Given the description of an element on the screen output the (x, y) to click on. 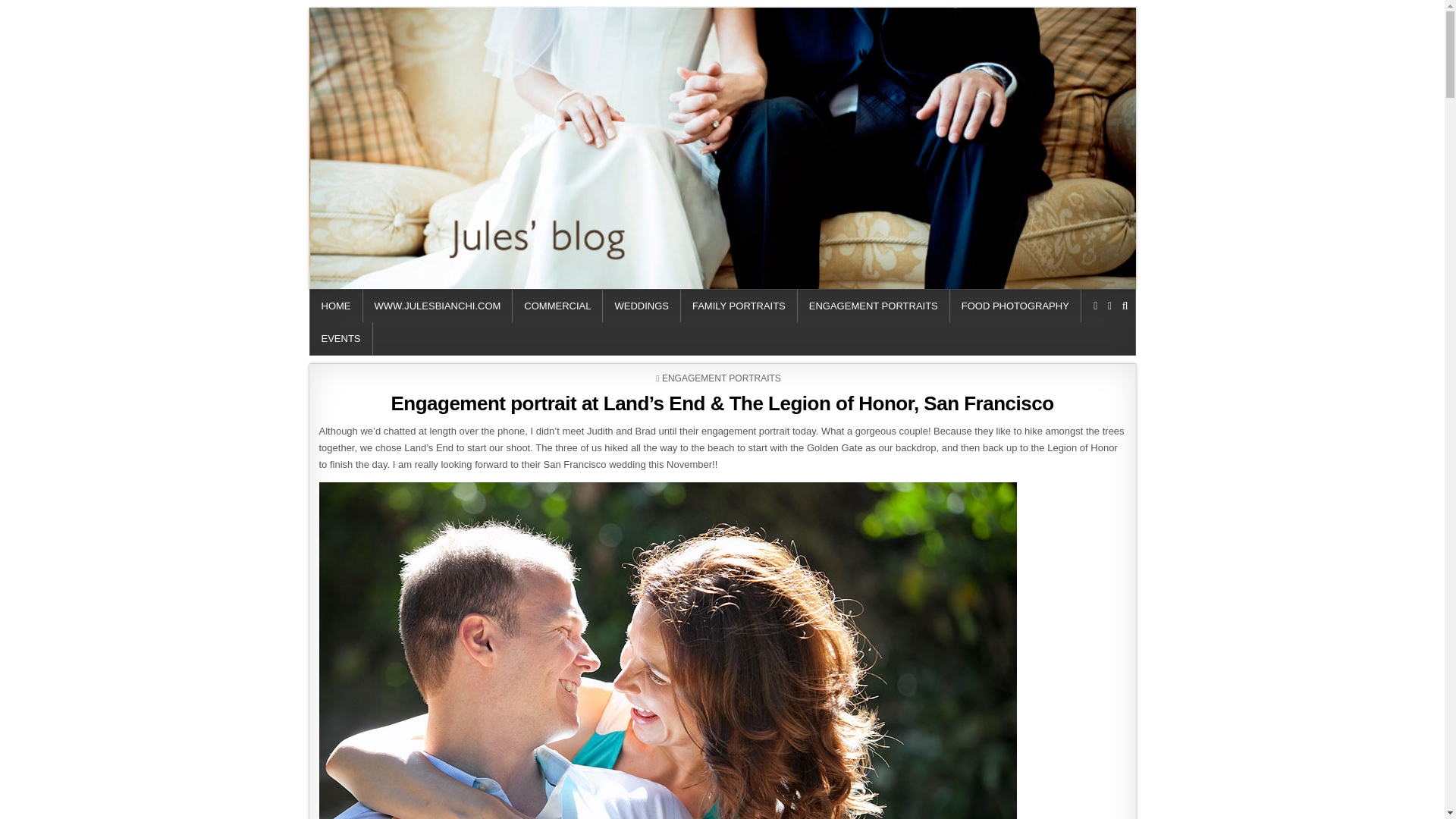
ENGAGEMENT PORTRAITS (721, 378)
HOME (335, 305)
FOOD PHOTOGRAPHY (1015, 305)
COMMERCIAL (557, 305)
WEDDINGS (641, 305)
EVENTS (340, 338)
FAMILY PORTRAITS (739, 305)
ENGAGEMENT PORTRAITS (873, 305)
WWW.JULESBIANCHI.COM (437, 305)
